Given the description of an element on the screen output the (x, y) to click on. 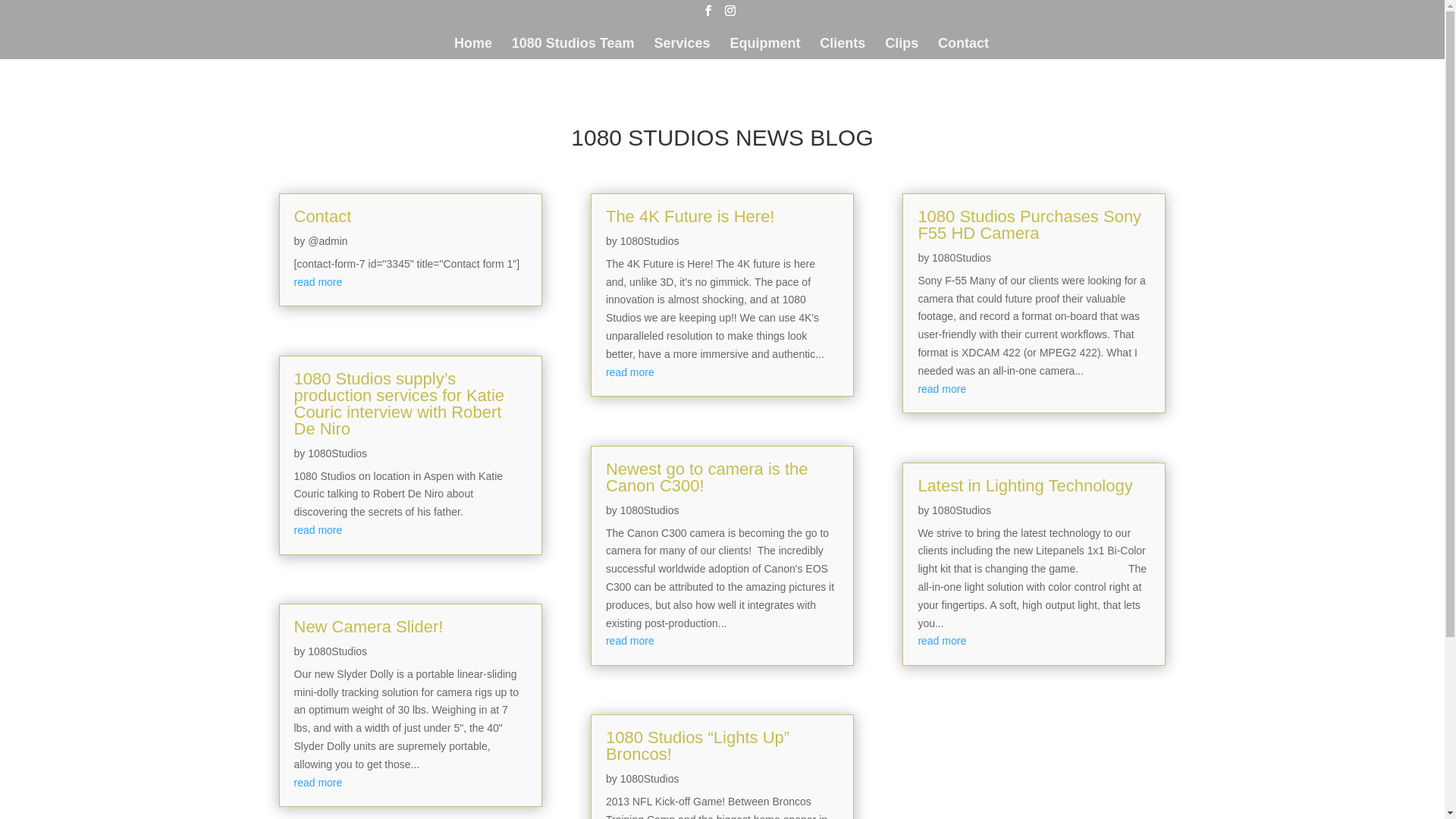
1080Studios Element type: text (961, 257)
Latest in Lighting Technology Element type: text (1024, 485)
read more Element type: text (318, 282)
1080Studios Element type: text (649, 241)
@admin Element type: text (327, 241)
Contact Element type: text (963, 48)
1080Studios Element type: text (337, 453)
Services Element type: text (681, 48)
1080Studios Element type: text (337, 651)
read more Element type: text (941, 388)
read more Element type: text (318, 530)
read more Element type: text (318, 782)
1080Studios Element type: text (649, 778)
New Camera Slider! Element type: text (368, 626)
1080 Studios Team Element type: text (572, 48)
Clients Element type: text (842, 48)
read more Element type: text (941, 640)
read more Element type: text (629, 372)
read more Element type: text (629, 640)
The 4K Future is Here! Element type: text (690, 216)
Newest go to camera is the Canon C300! Element type: text (706, 477)
Clips Element type: text (901, 48)
Contact Element type: text (322, 216)
1080Studios Element type: text (649, 510)
1080 Studios Purchases Sony F55 HD Camera Element type: text (1029, 224)
Home Element type: text (473, 48)
1080Studios Element type: text (961, 510)
Equipment Element type: text (764, 48)
